Given the description of an element on the screen output the (x, y) to click on. 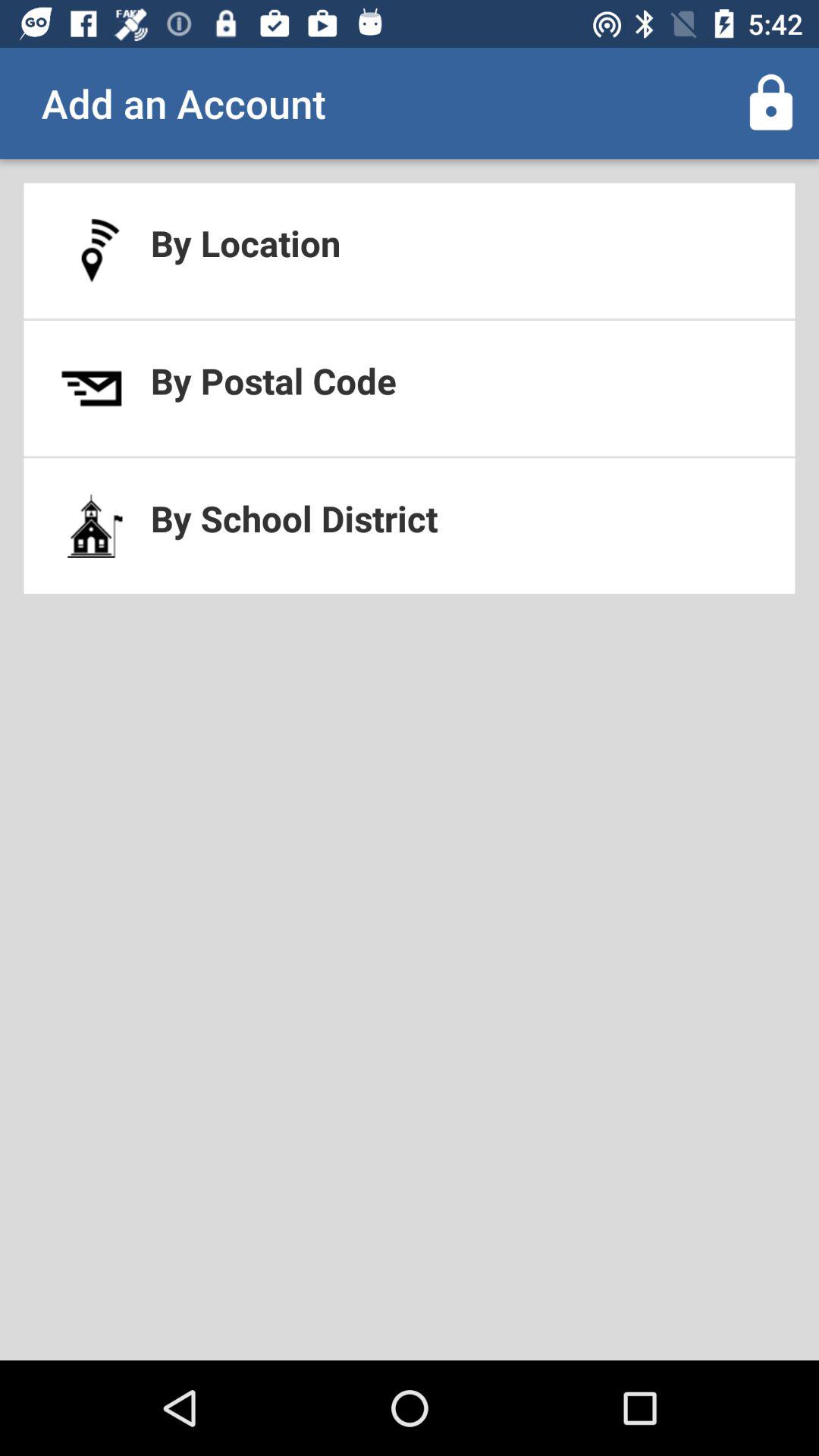
open app to the right of  add an account app (771, 103)
